Given the description of an element on the screen output the (x, y) to click on. 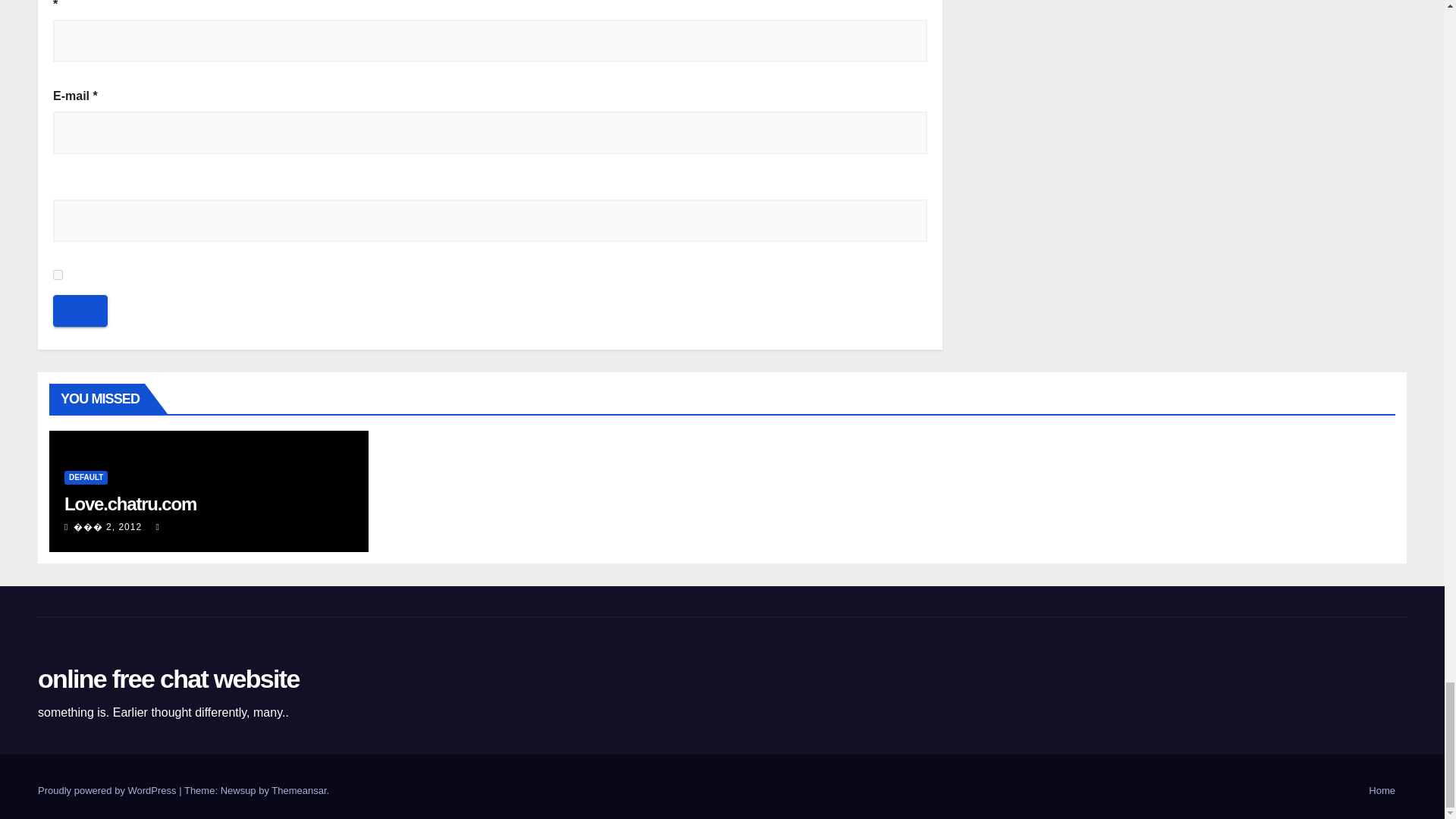
Home (1381, 790)
Permalink to: Love.chatru.com (130, 503)
yes (57, 275)
